Given the description of an element on the screen output the (x, y) to click on. 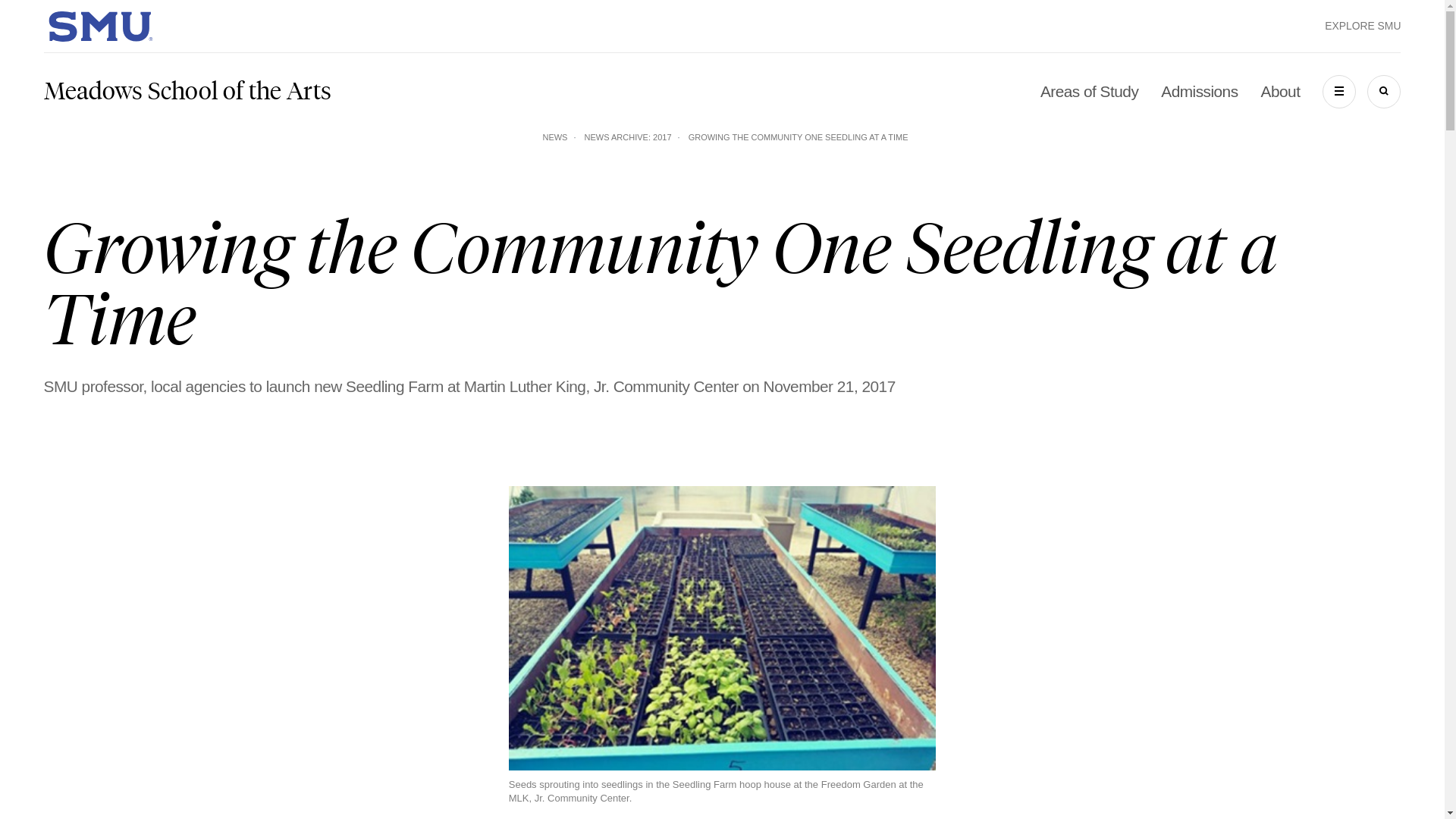
Areas of Study (1089, 90)
About (1280, 90)
SEARCH (1383, 91)
NEWS (554, 136)
Meadows School of the Arts (187, 91)
EXPLORE SMU (1362, 26)
NEWS ARCHIVE: 2017 (628, 136)
MENU (1338, 91)
GROWING THE COMMUNITY ONE SEEDLING AT A TIME (798, 136)
Admissions (1198, 90)
